Given the description of an element on the screen output the (x, y) to click on. 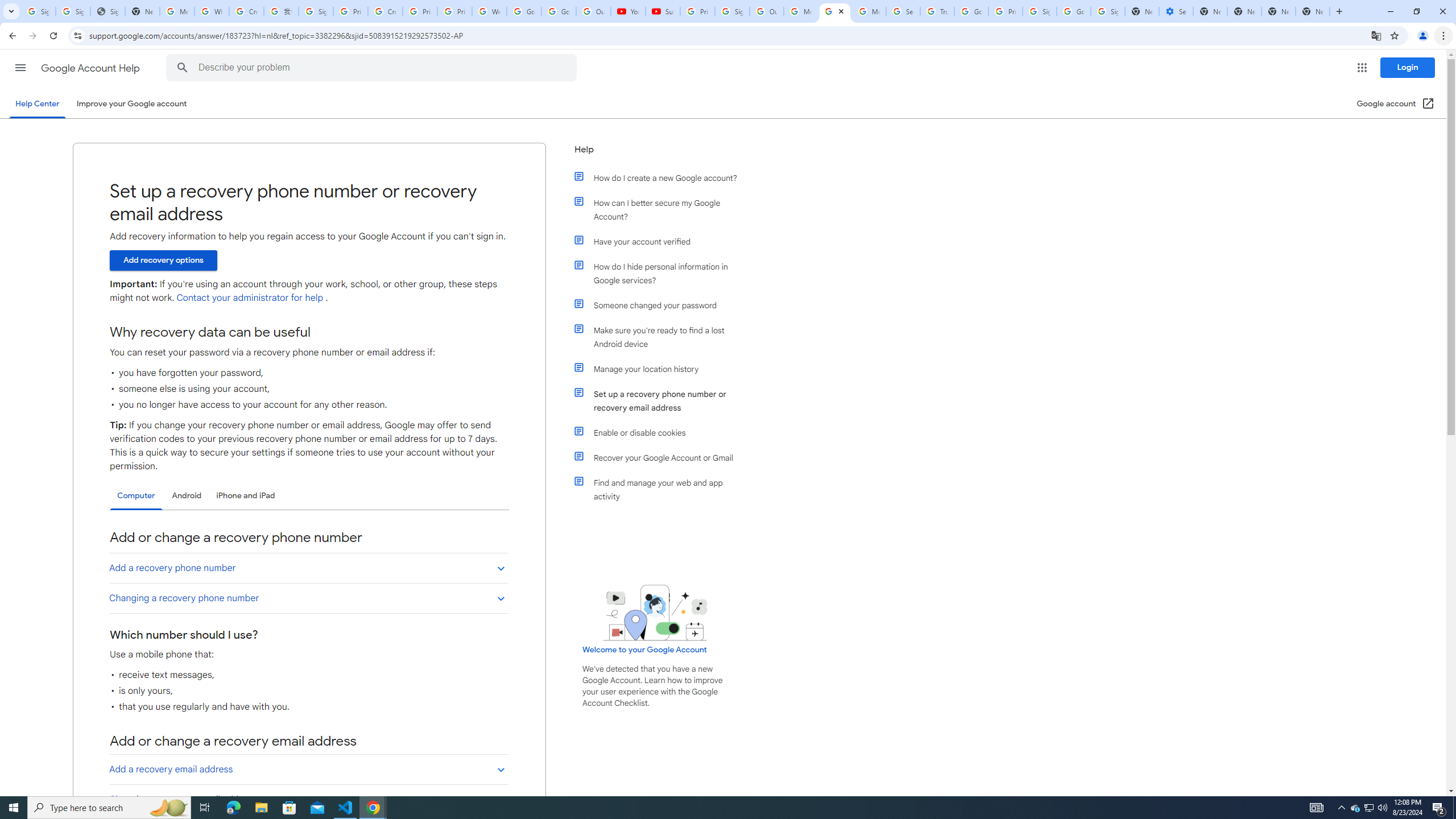
Sign in - Google Accounts (73, 11)
Google Account (557, 11)
Recover your Google Account or Gmail (661, 457)
Improve your Google account (131, 103)
Sign in - Google Accounts (315, 11)
Google Ads - Sign in (970, 11)
Computer (136, 496)
Contact your administrator for help (249, 297)
Sign in - Google Accounts (1039, 11)
